Given the description of an element on the screen output the (x, y) to click on. 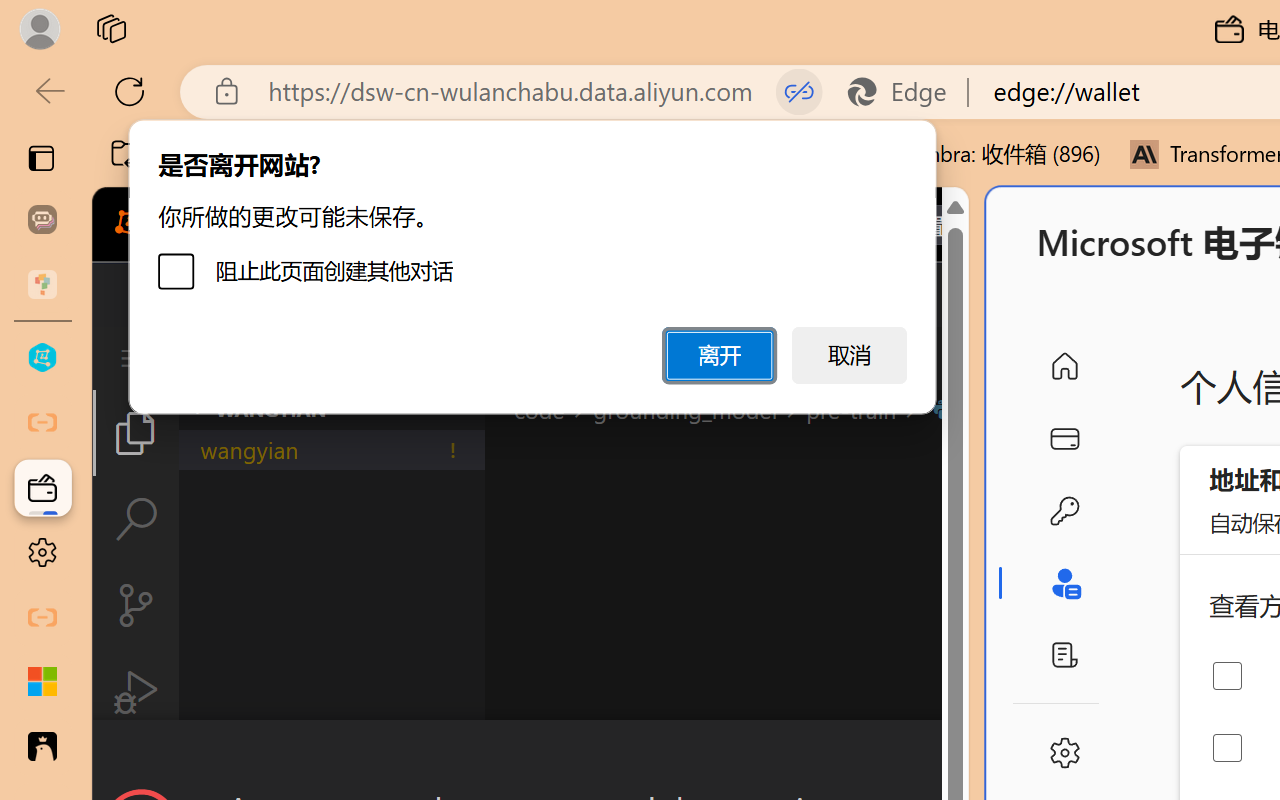
Microsoft security help and learning (42, 681)
